Given the description of an element on the screen output the (x, y) to click on. 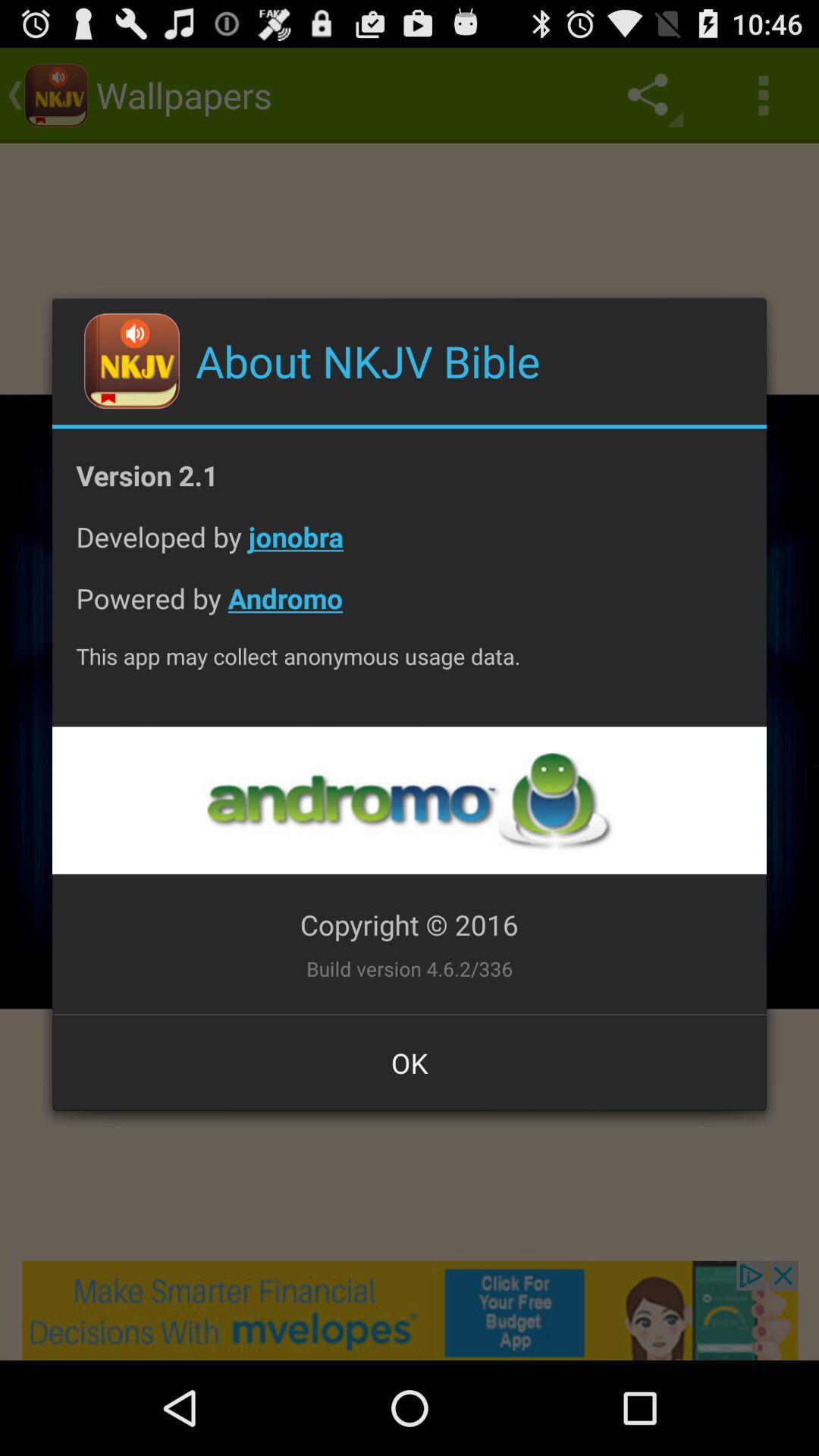
press app below developed by jonobra app (409, 609)
